Given the description of an element on the screen output the (x, y) to click on. 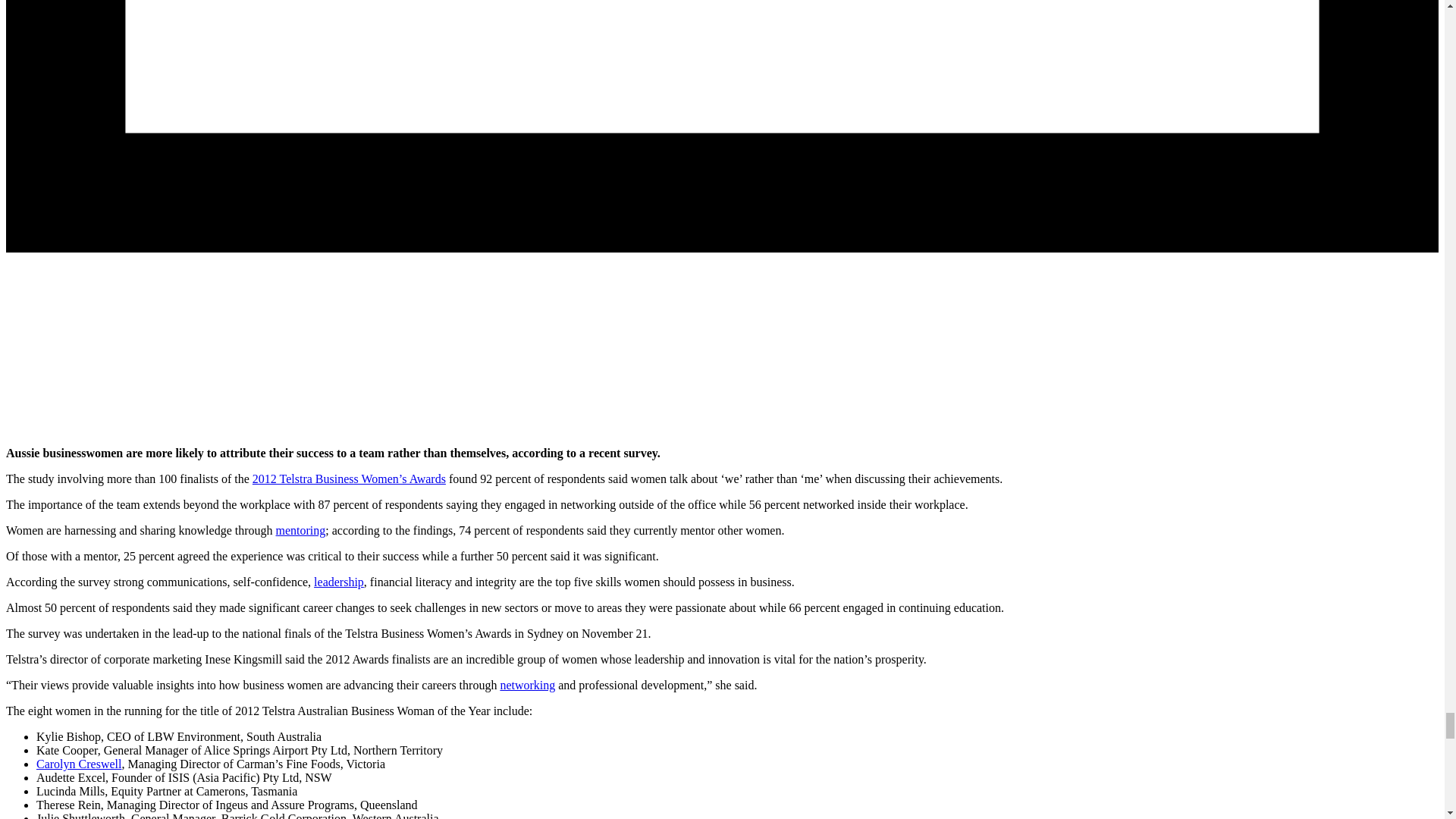
leadership (339, 581)
mentoring (301, 530)
networking (526, 684)
Carolyn Creswell (78, 763)
